Given the description of an element on the screen output the (x, y) to click on. 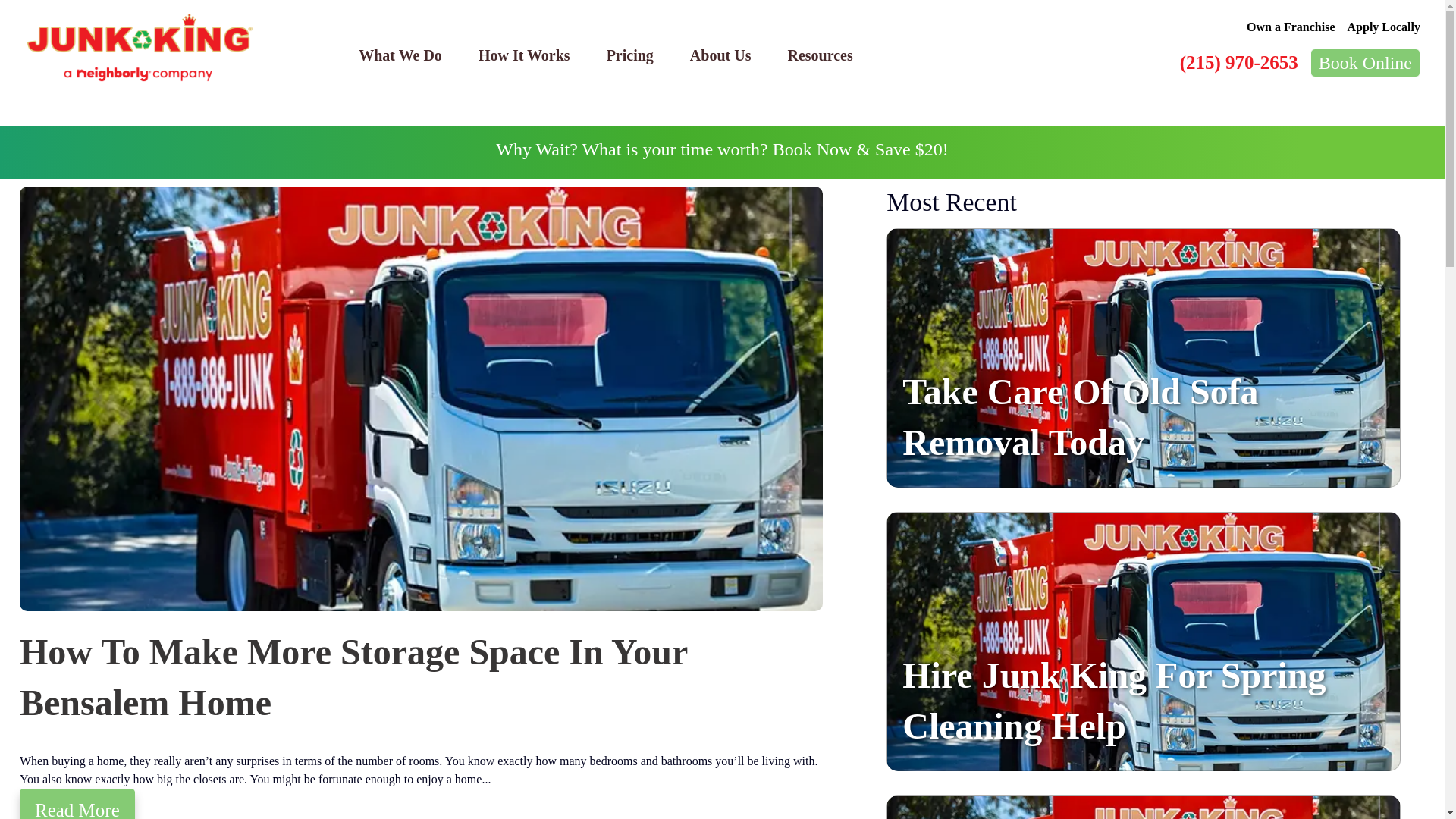
Pricing (629, 54)
Take Care Of Old Sofa Removal Today (1079, 416)
How It Works (524, 54)
About Us (720, 54)
Own a Franchise (1290, 27)
Banner Pane (721, 152)
Resources (819, 54)
Hire Junk King For Spring Cleaning Help (1113, 700)
Book Online (1365, 62)
